Given the description of an element on the screen output the (x, y) to click on. 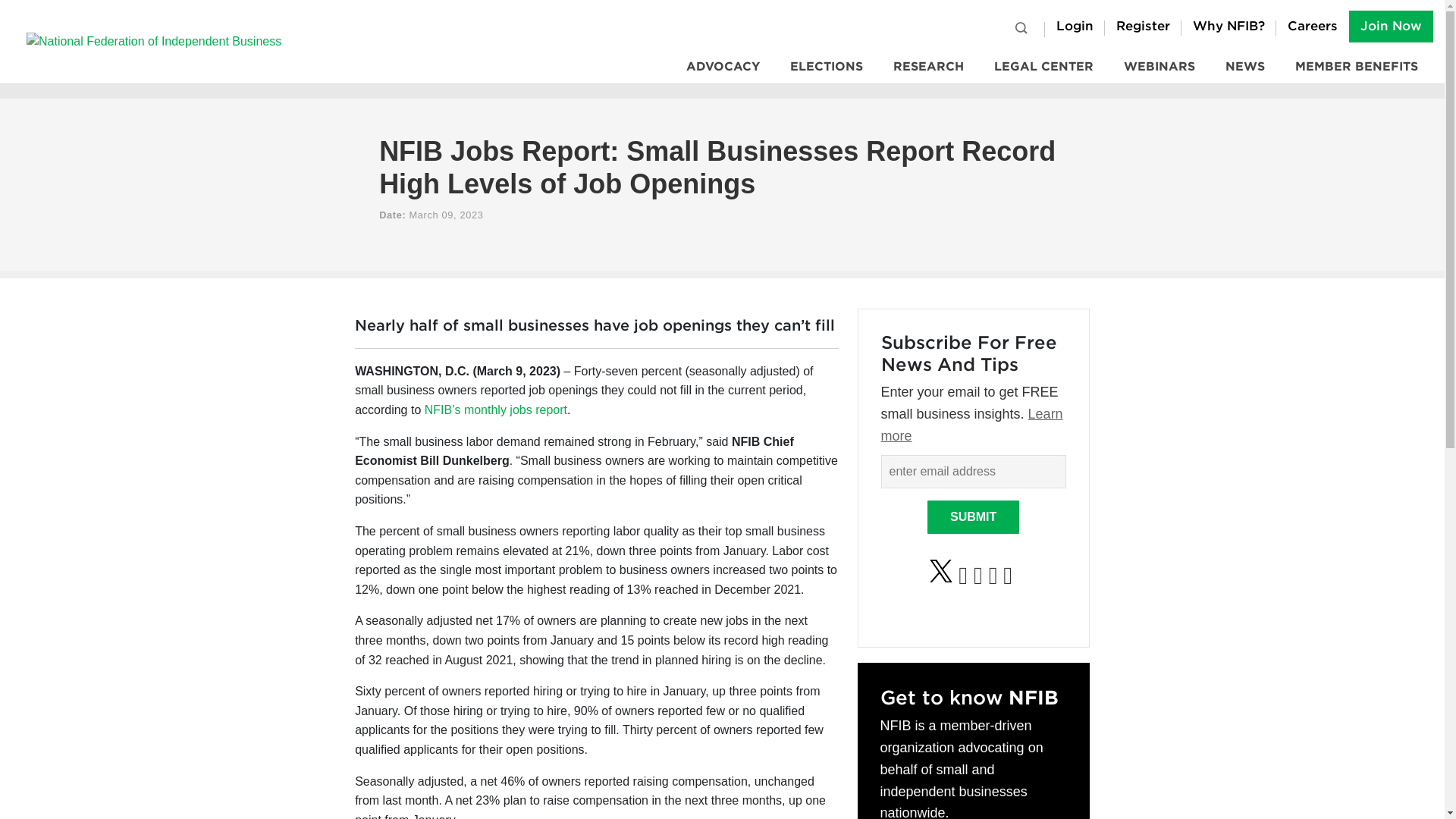
National Federation of Independent Business (154, 41)
Join Now (1390, 26)
ELECTIONS (825, 66)
ADVOCACY (722, 66)
WEBINARS (1158, 66)
Careers (1312, 26)
Register (1142, 26)
Why NFIB? (1228, 26)
Login (1075, 26)
Submit (973, 516)
RESEARCH (927, 66)
NEWS (1244, 66)
LEGAL CENTER (1043, 66)
